Given the description of an element on the screen output the (x, y) to click on. 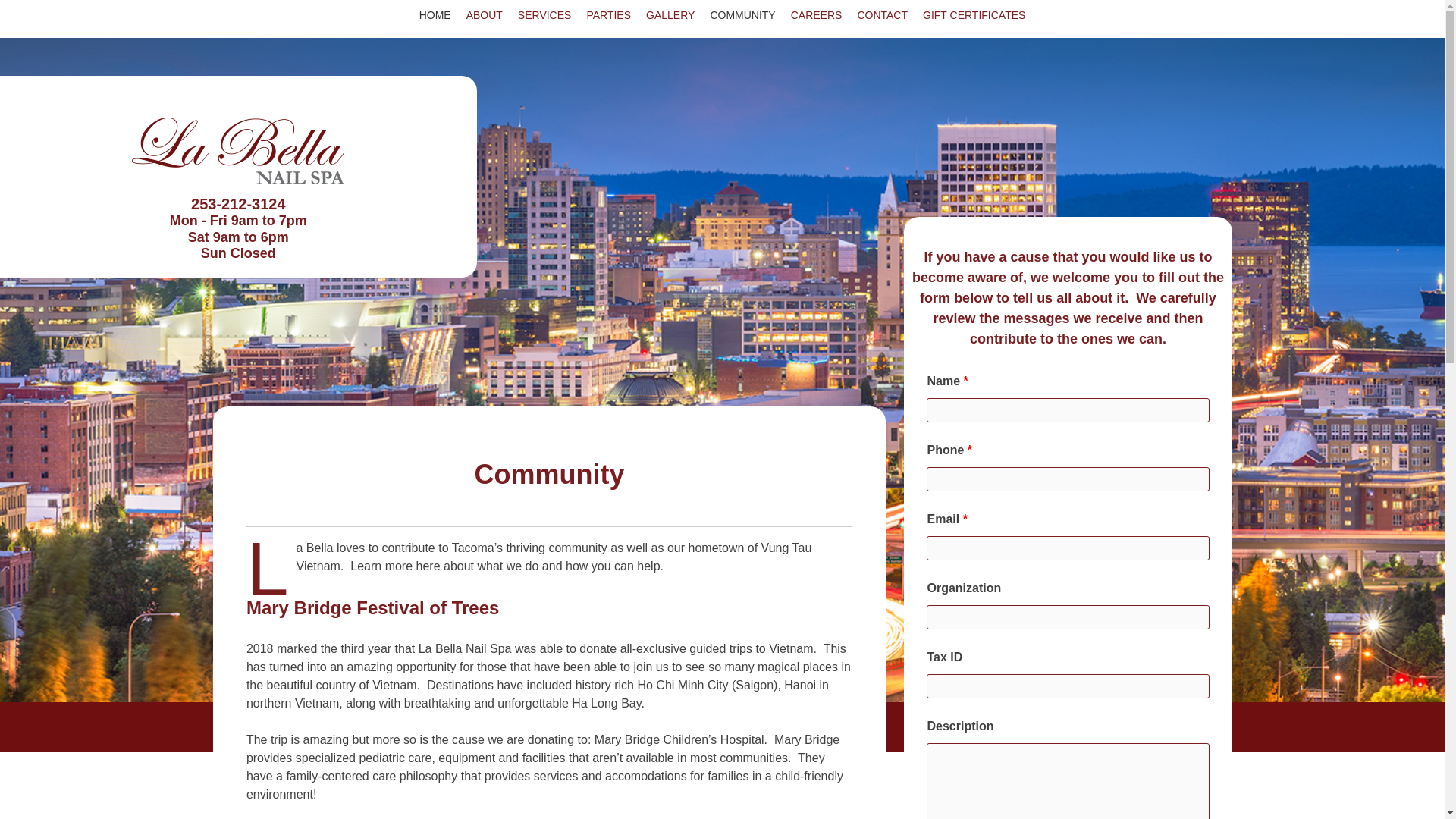
CAREERS (816, 15)
HOME (435, 15)
GIFT CERTIFICATES (973, 15)
ABOUT (484, 15)
253-212-3124 (237, 203)
CONTACT (881, 15)
COMMUNITY (742, 15)
GALLERY (670, 15)
PARTIES (608, 15)
SERVICES (545, 15)
